Given the description of an element on the screen output the (x, y) to click on. 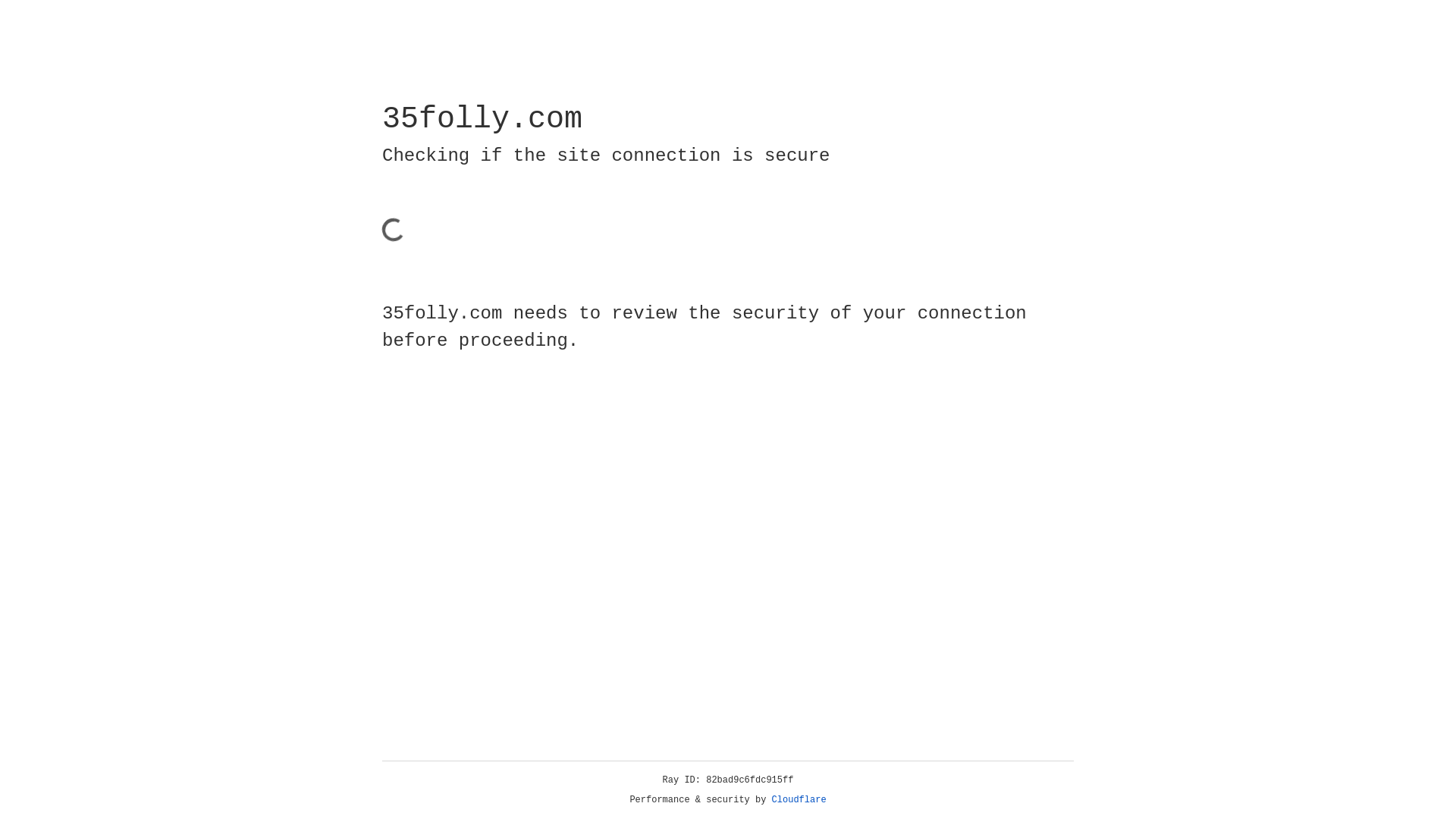
Cloudflare Element type: text (798, 799)
